Given the description of an element on the screen output the (x, y) to click on. 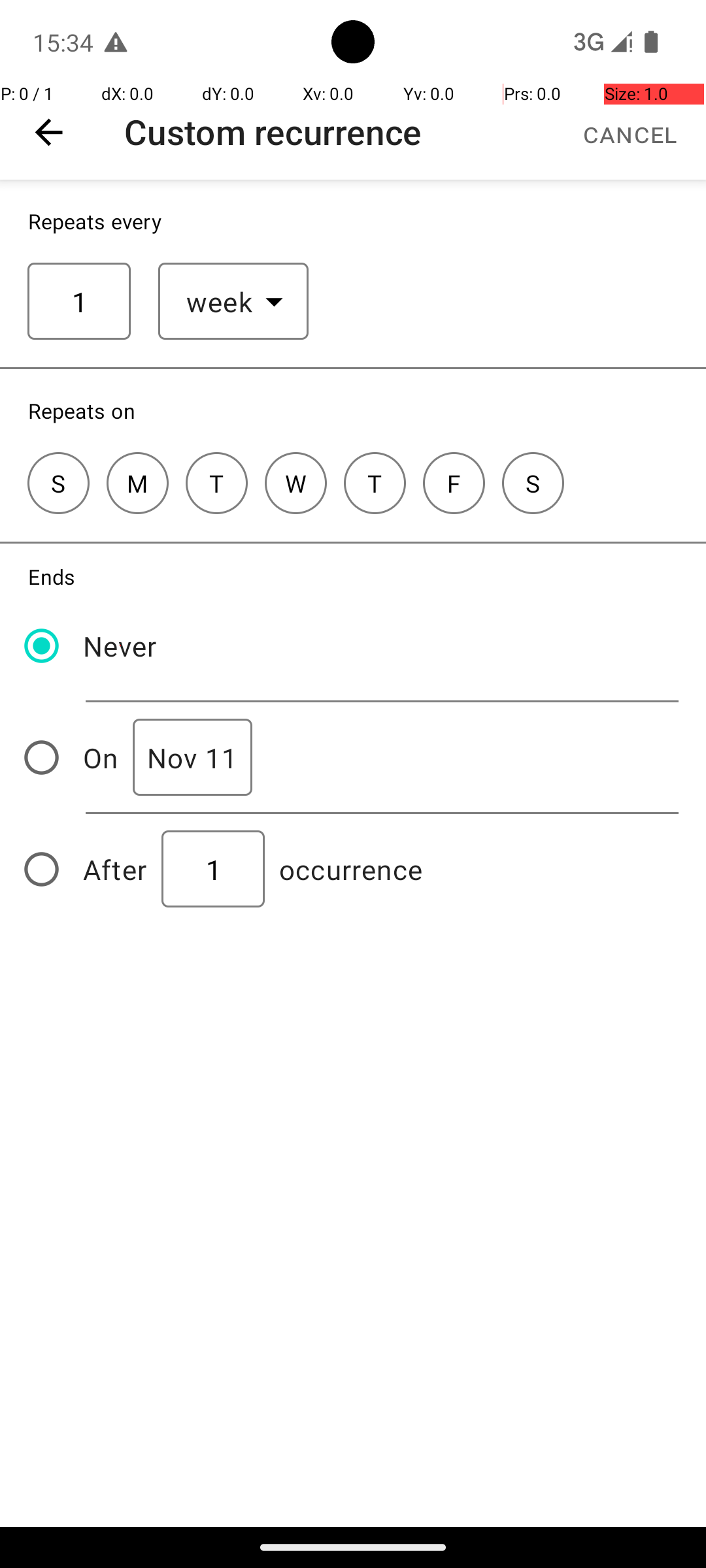
Repeats every Element type: android.widget.TextView (94, 221)
Repeats on Element type: android.widget.TextView (81, 410)
Ends Element type: android.widget.TextView (51, 576)
Custom recurrence Element type: android.widget.TextView (273, 131)
week Element type: android.widget.TextView (219, 301)
Never Element type: android.widget.TextView (120, 645)
After Element type: android.widget.TextView (114, 868)
occurrence Element type: android.widget.TextView (350, 868)
Nov 11 Element type: android.widget.TextView (192, 757)
